Given the description of an element on the screen output the (x, y) to click on. 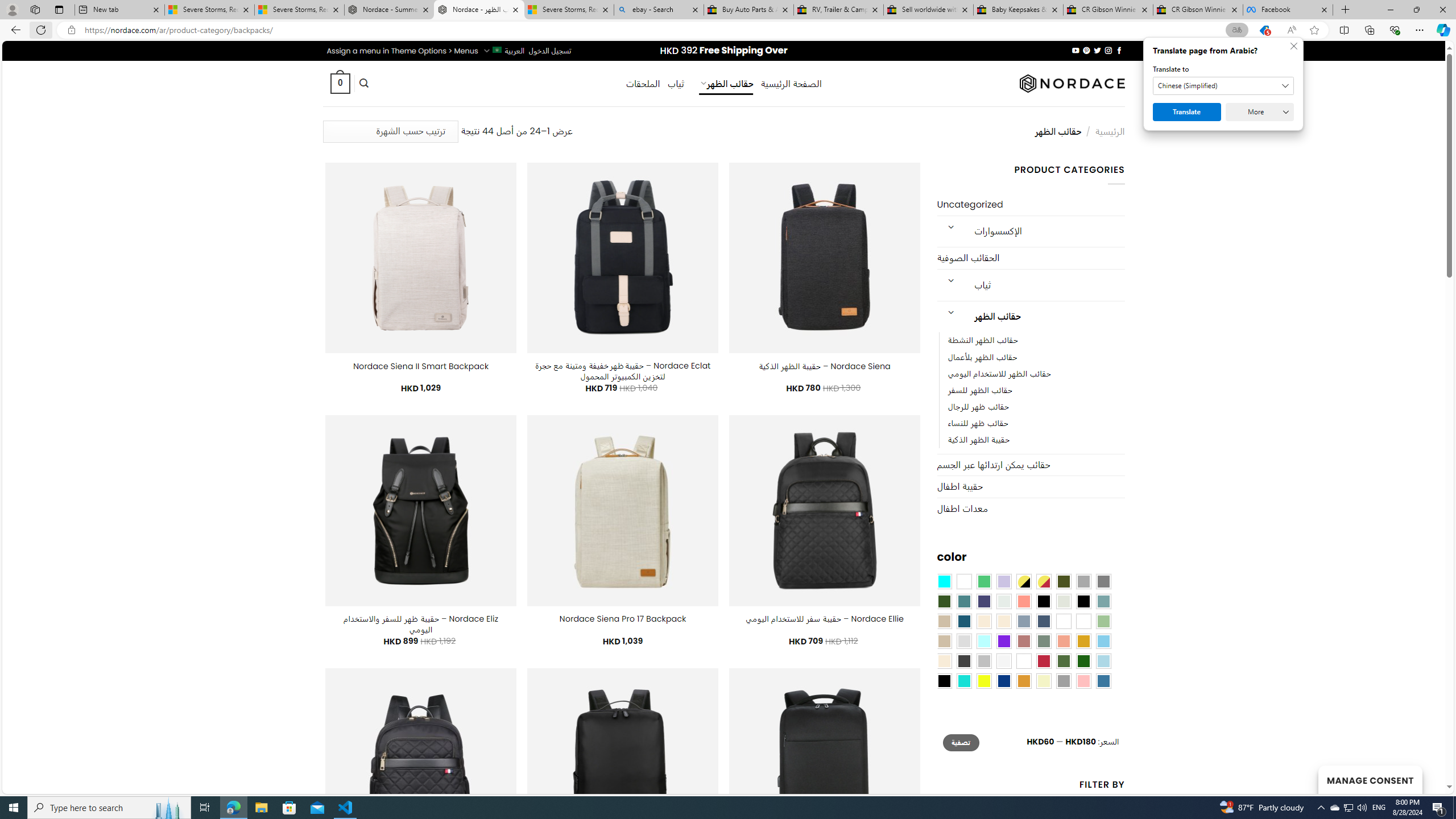
MANAGE CONSENT (1369, 779)
Show translate options (1236, 29)
Khaki (1082, 621)
This site has coupons! Shopping in Microsoft Edge, 5 (1263, 29)
Uncategorized (1030, 204)
Assign a menu in Theme Options > Menus (402, 50)
